Given the description of an element on the screen output the (x, y) to click on. 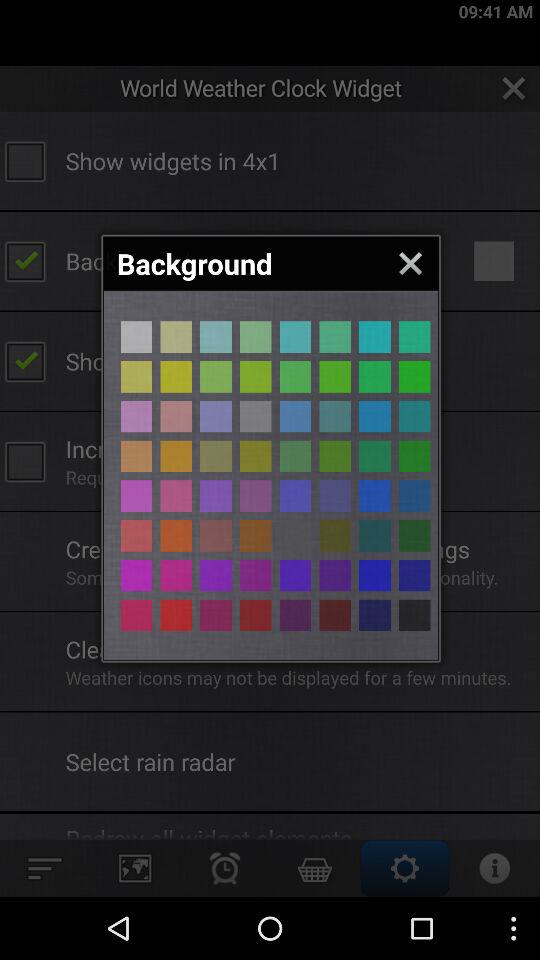
color button (374, 376)
